Given the description of an element on the screen output the (x, y) to click on. 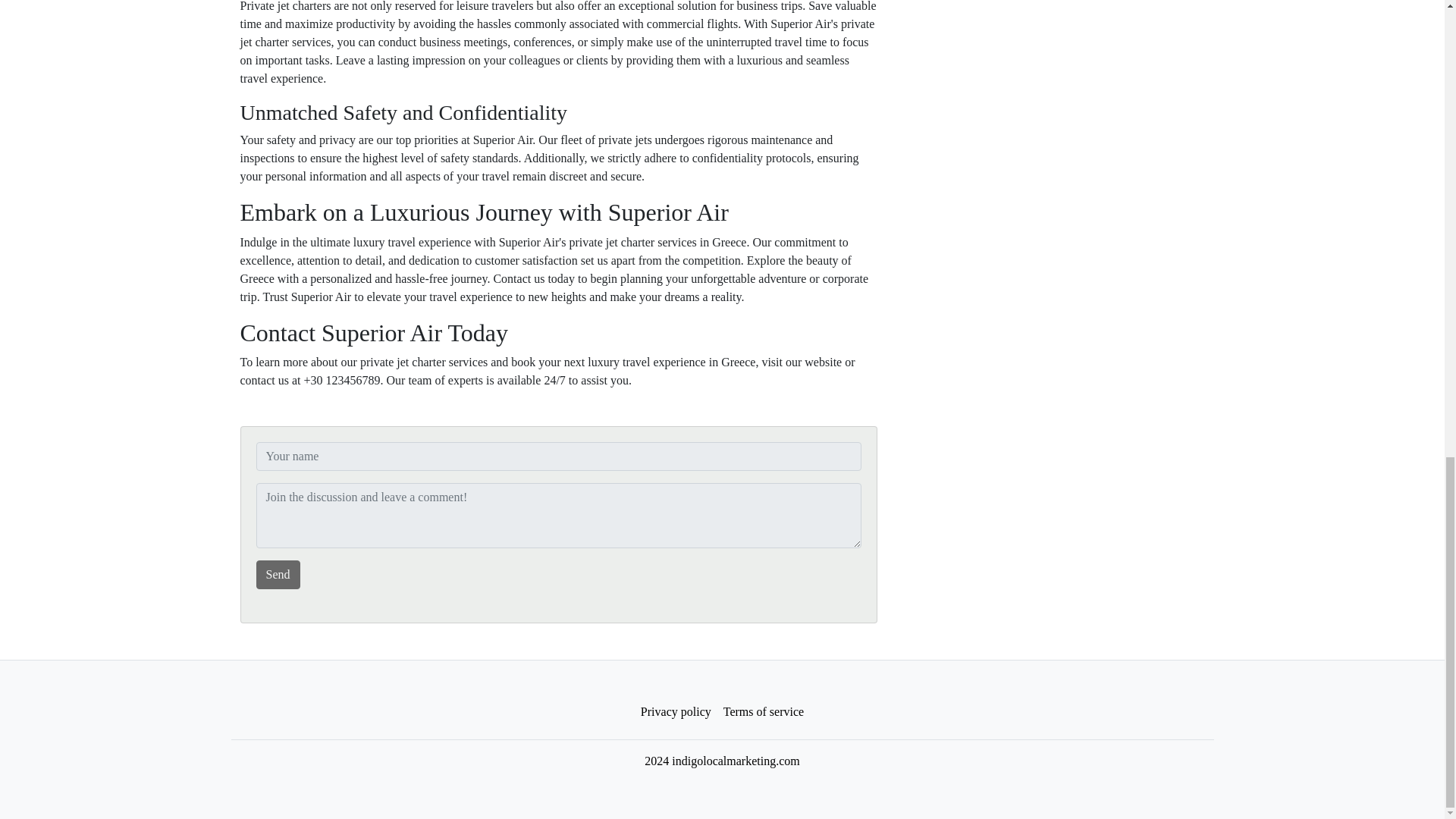
Terms of service (763, 711)
Send (277, 574)
Send (277, 574)
Privacy policy (675, 711)
